Given the description of an element on the screen output the (x, y) to click on. 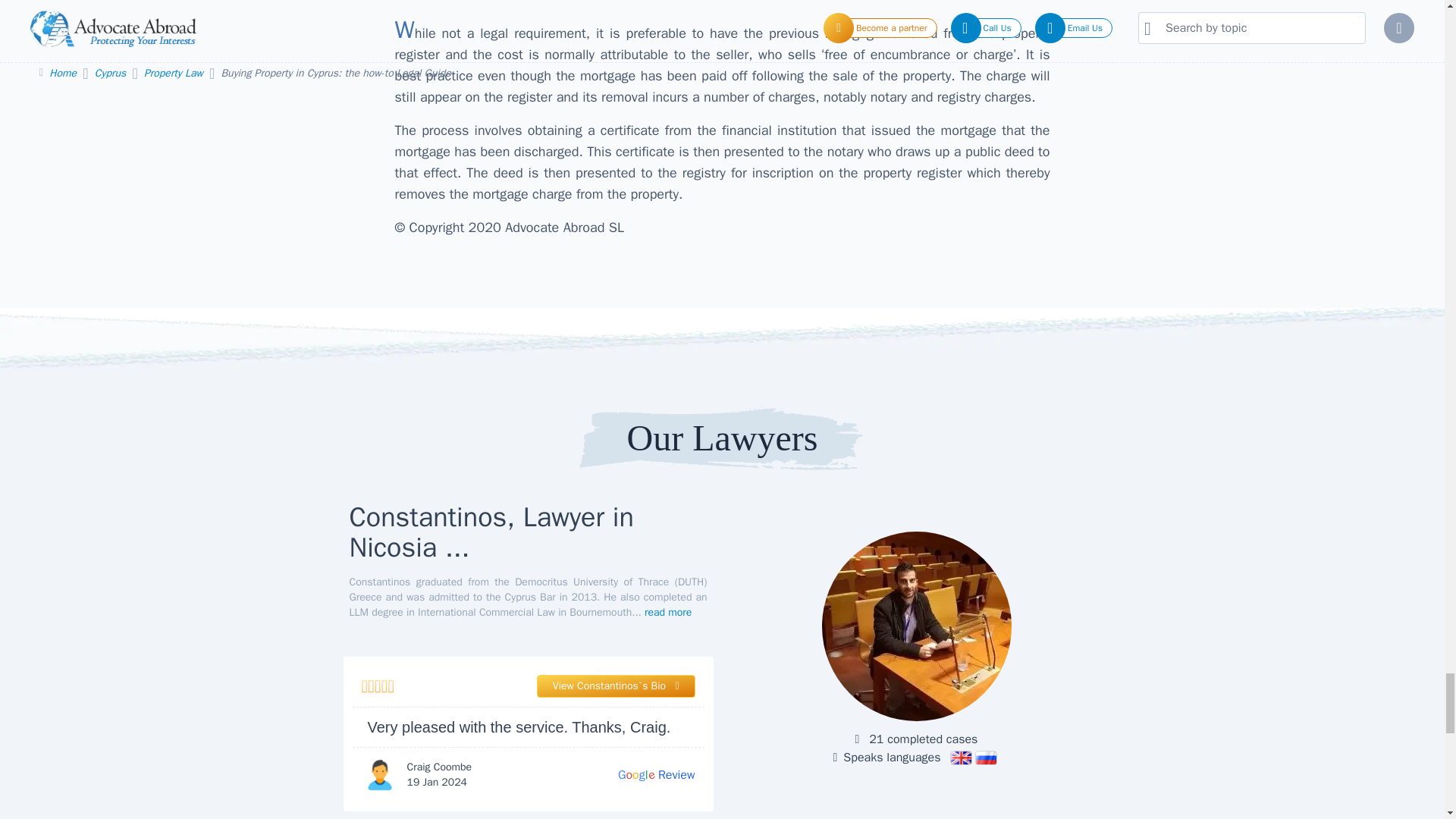
read more (668, 612)
Russian (986, 757)
English (656, 774)
